Given the description of an element on the screen output the (x, y) to click on. 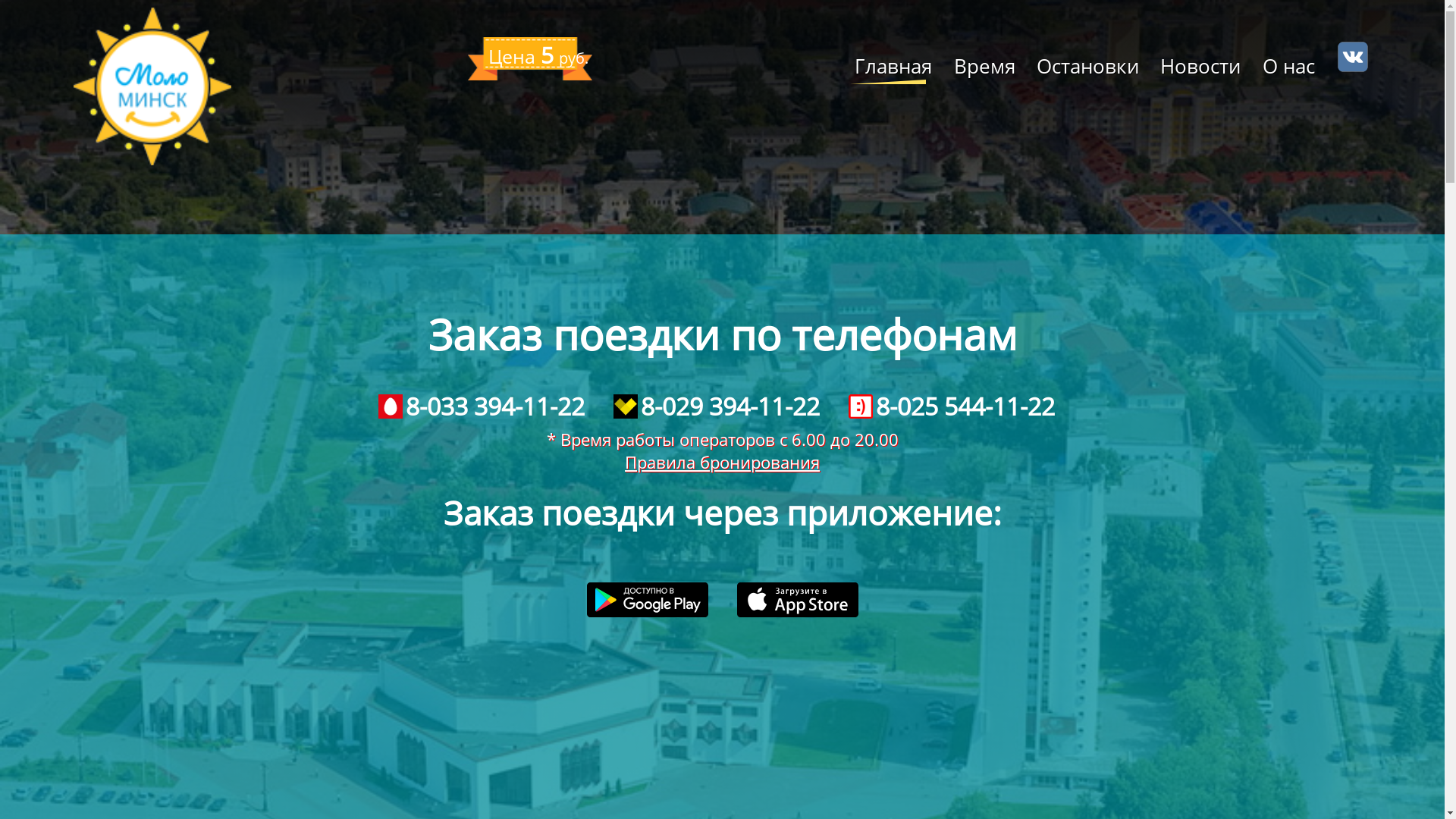
appstore Element type: text (797, 599)
8-025 544-11-22 Element type: text (950, 406)
8-029 394-11-22 Element type: text (715, 406)
8-033 394-11-22 Element type: text (480, 406)
googleplay Element type: text (647, 599)
